Given the description of an element on the screen output the (x, y) to click on. 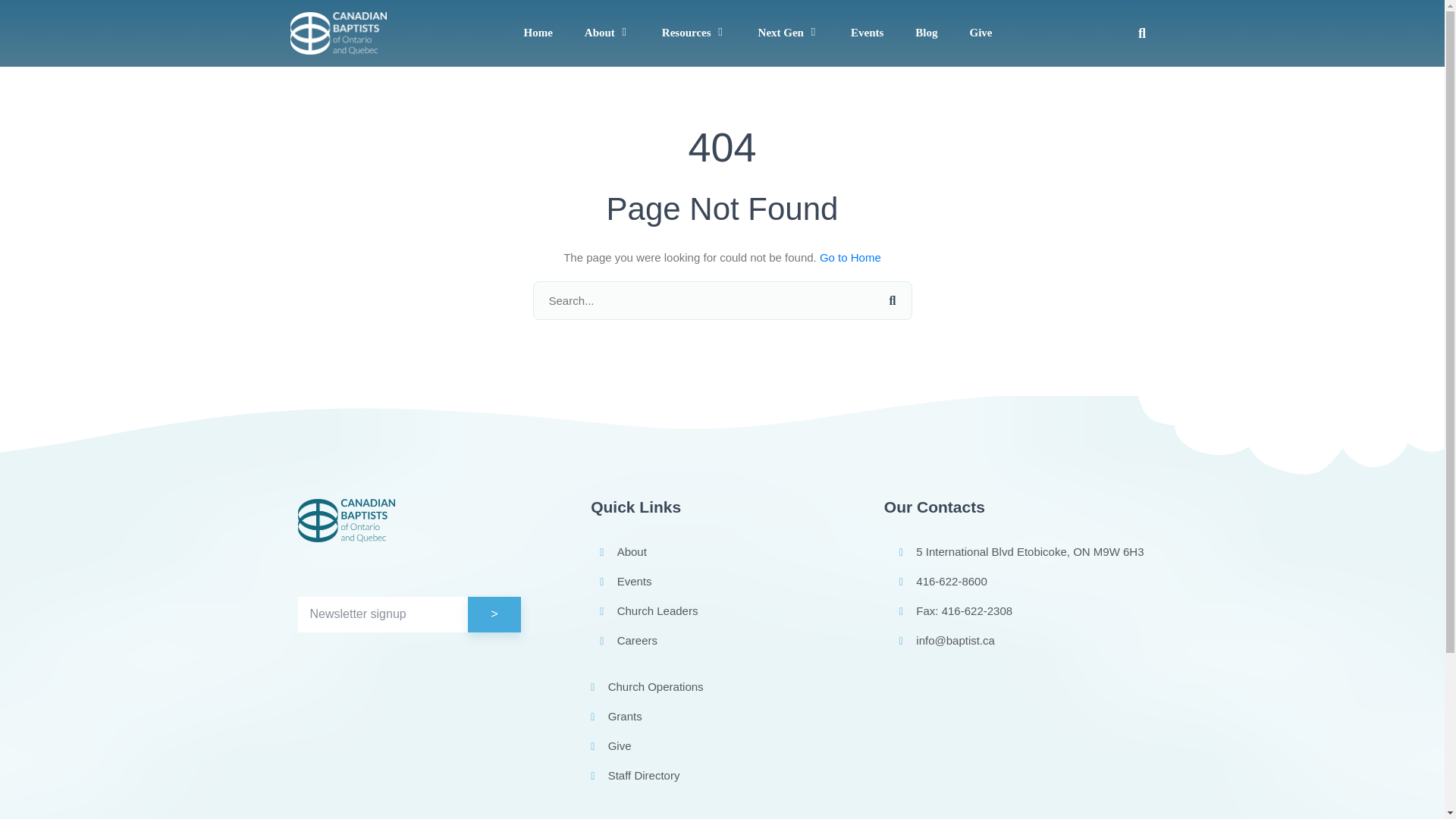
Blog (926, 32)
Home (536, 32)
Give (980, 32)
About (599, 32)
Events (866, 32)
Resources (686, 32)
Next Gen (780, 32)
